Given the description of an element on the screen output the (x, y) to click on. 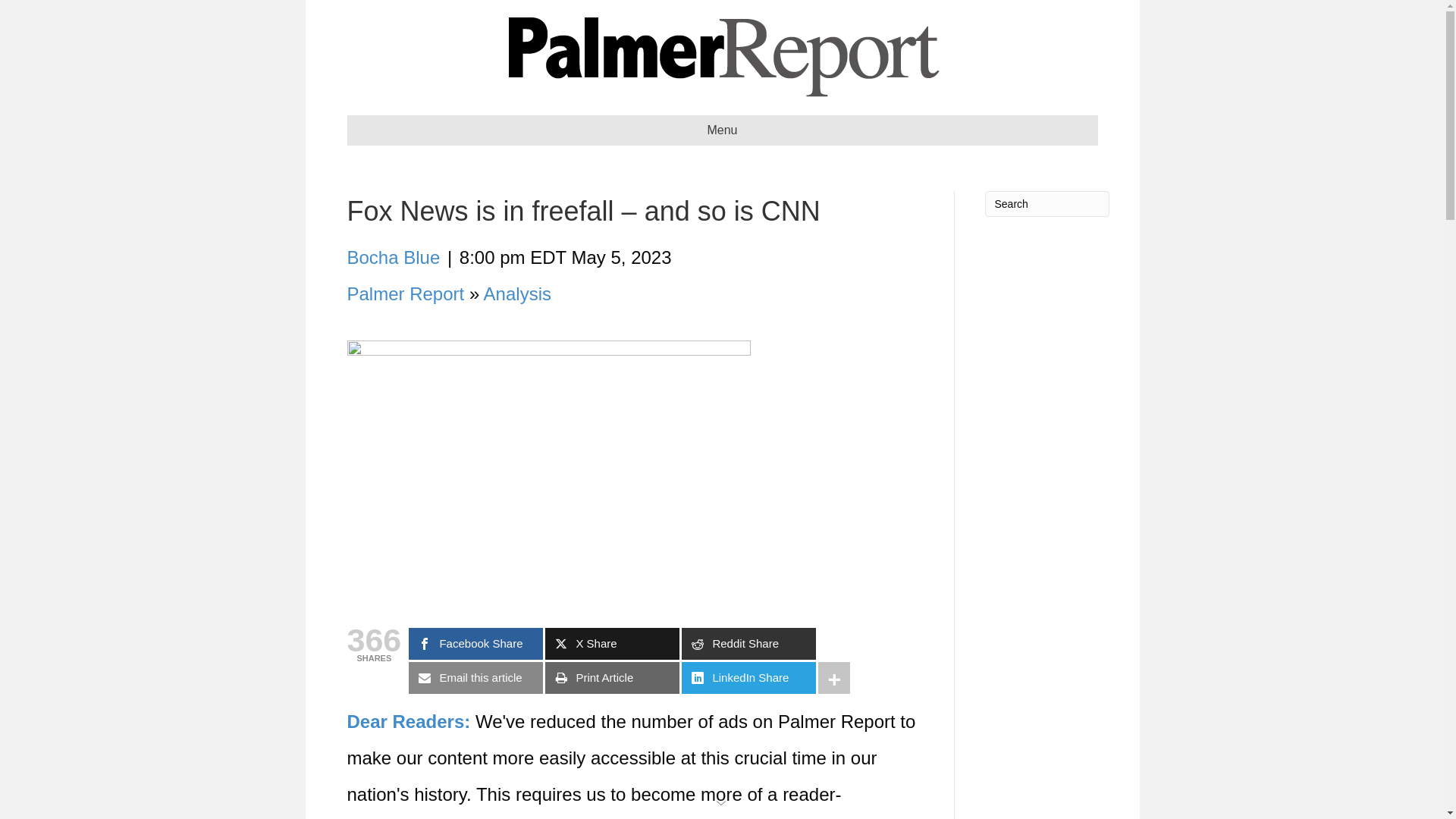
Palmer Report (405, 293)
LinkedIn Share (748, 677)
Bocha Blue (394, 257)
Search (1046, 203)
Facebook Share (476, 644)
Posts by Bocha Blue (394, 257)
Type and press Enter to search. (1046, 203)
Ad.Plus Advertising (722, 801)
Reddit Share (748, 644)
Print Article (611, 677)
